Given the description of an element on the screen output the (x, y) to click on. 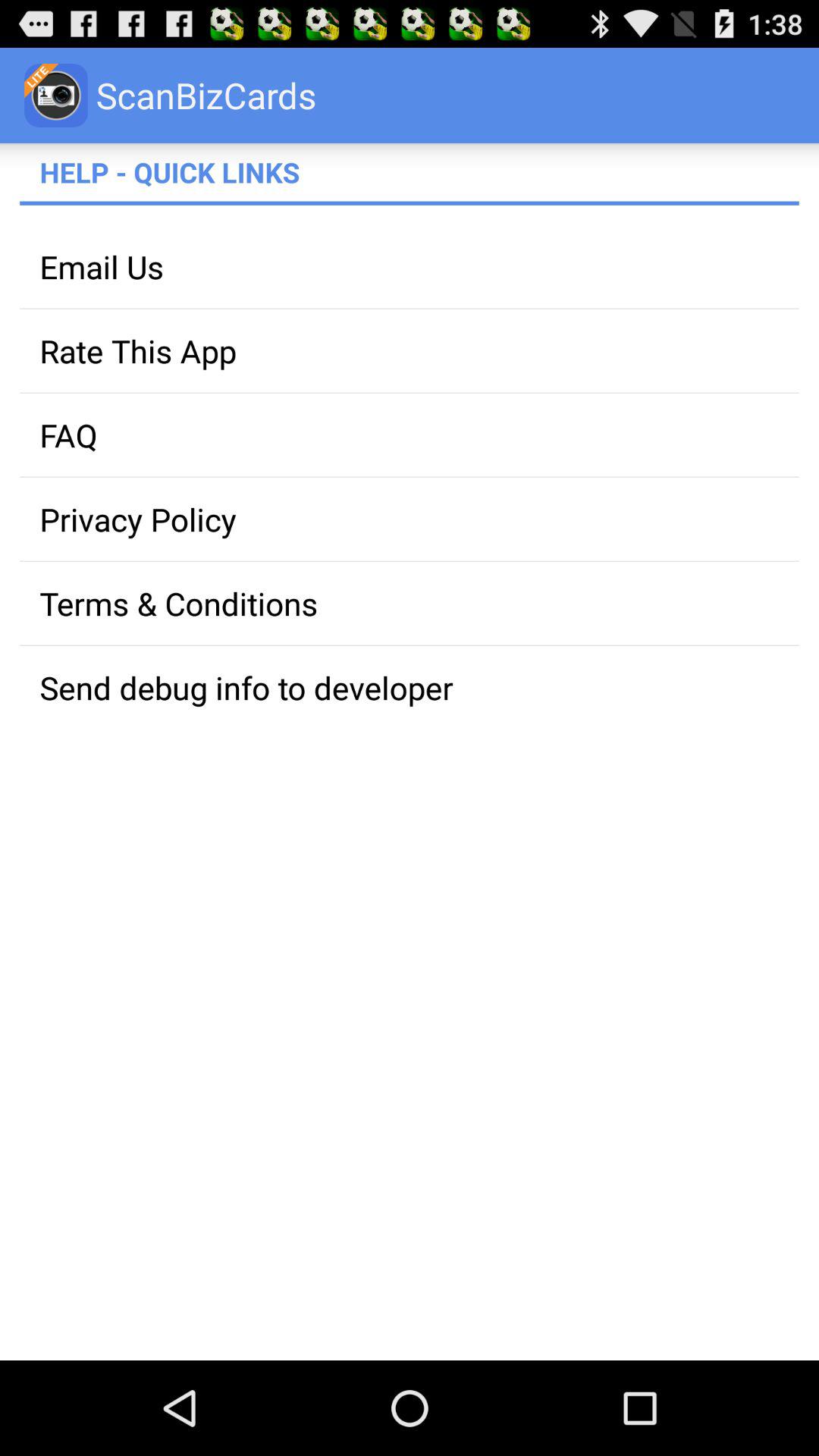
turn on the app above the send debug info (409, 603)
